Given the description of an element on the screen output the (x, y) to click on. 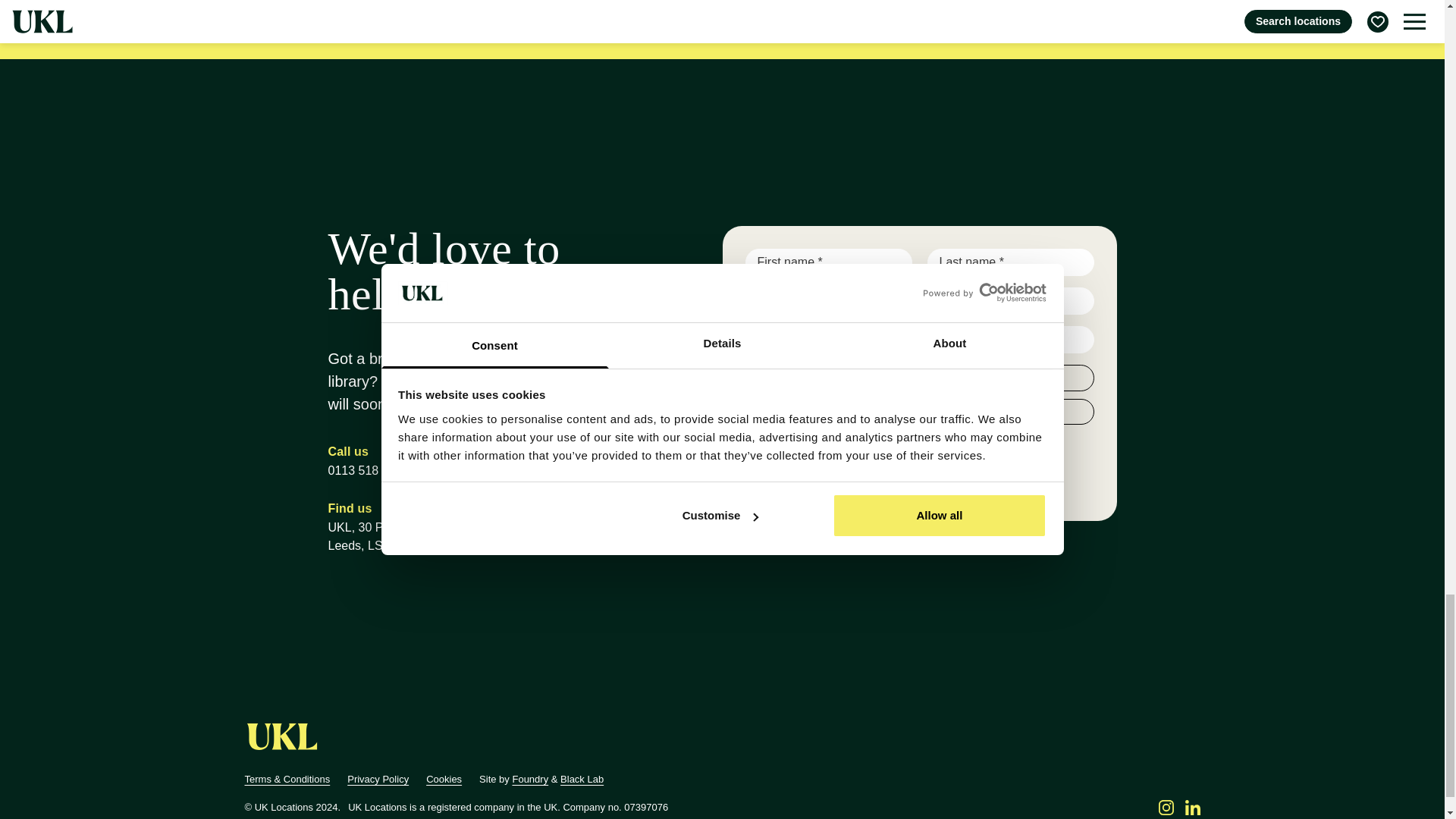
Send (775, 483)
